Given the description of an element on the screen output the (x, y) to click on. 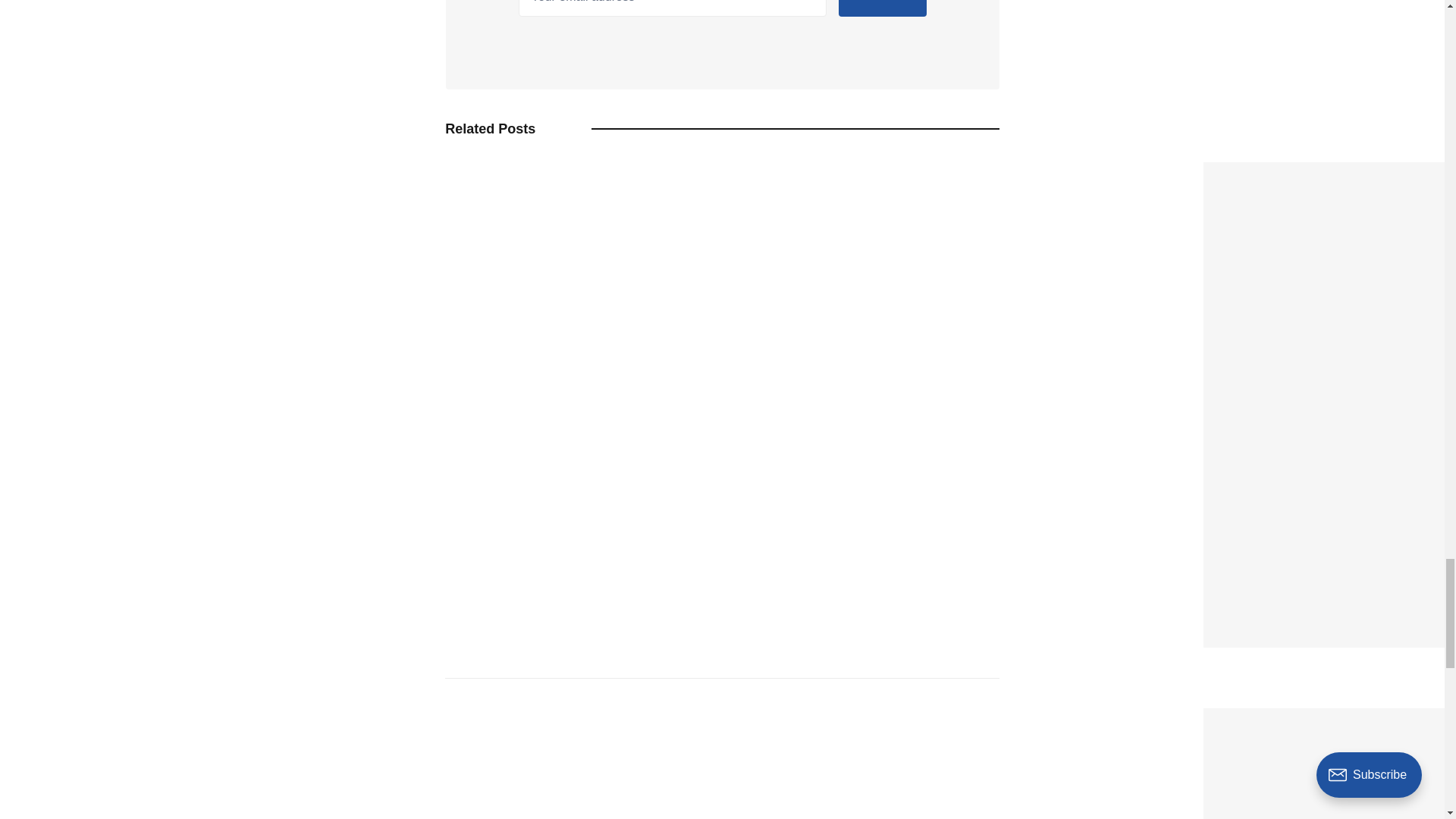
Subscribe (882, 8)
